Given the description of an element on the screen output the (x, y) to click on. 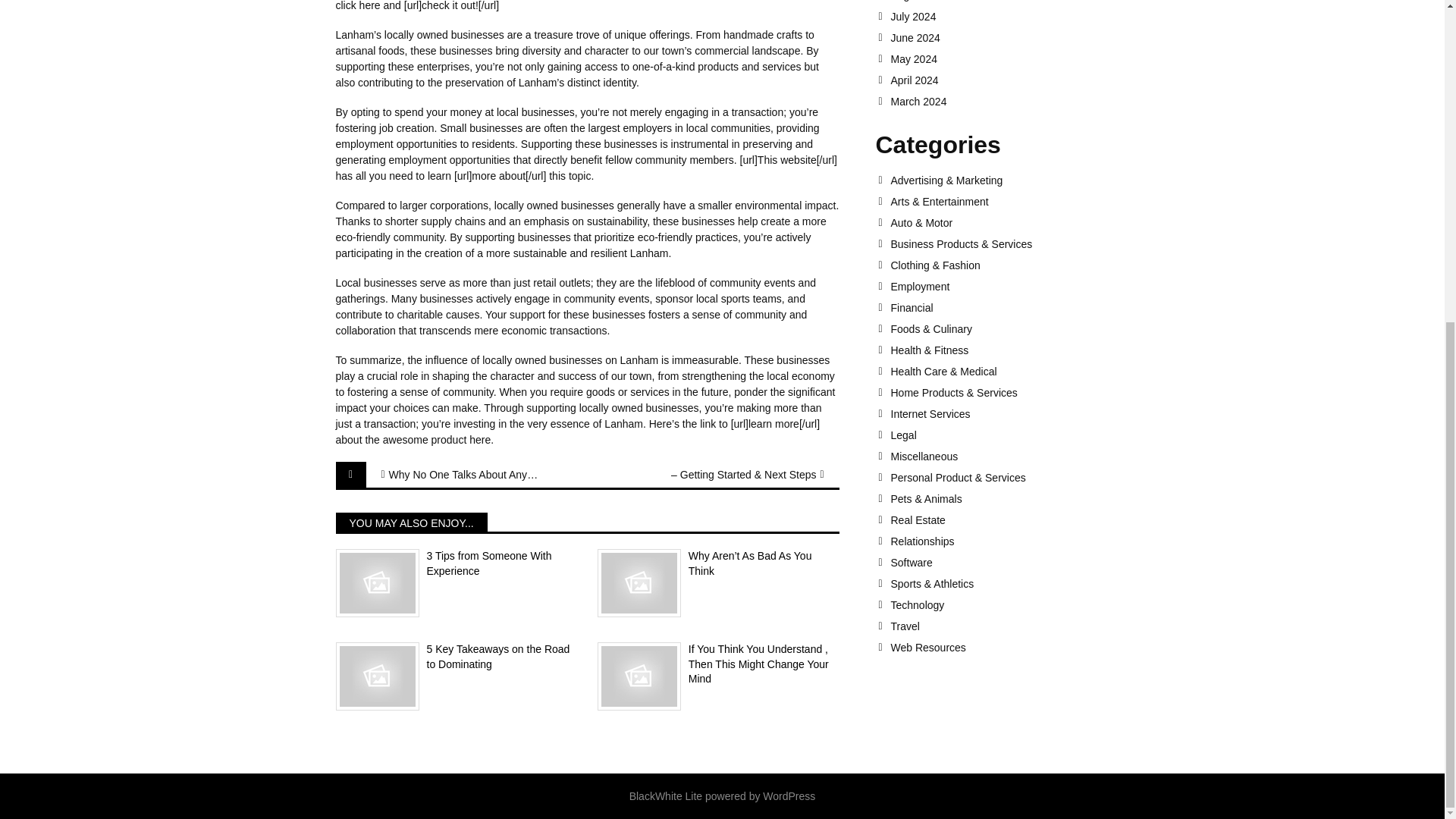
April 2024 (998, 80)
Internet Services (998, 413)
July 2024 (998, 16)
Why No One Talks About Anymore (464, 474)
3 Tips from Someone With Experience (455, 563)
May 2024 (998, 59)
March 2024 (998, 101)
Legal (998, 435)
Financial (998, 307)
June 2024 (998, 37)
5 Key Takeaways on the Road to Dominating (455, 656)
Employment (998, 286)
